Given the description of an element on the screen output the (x, y) to click on. 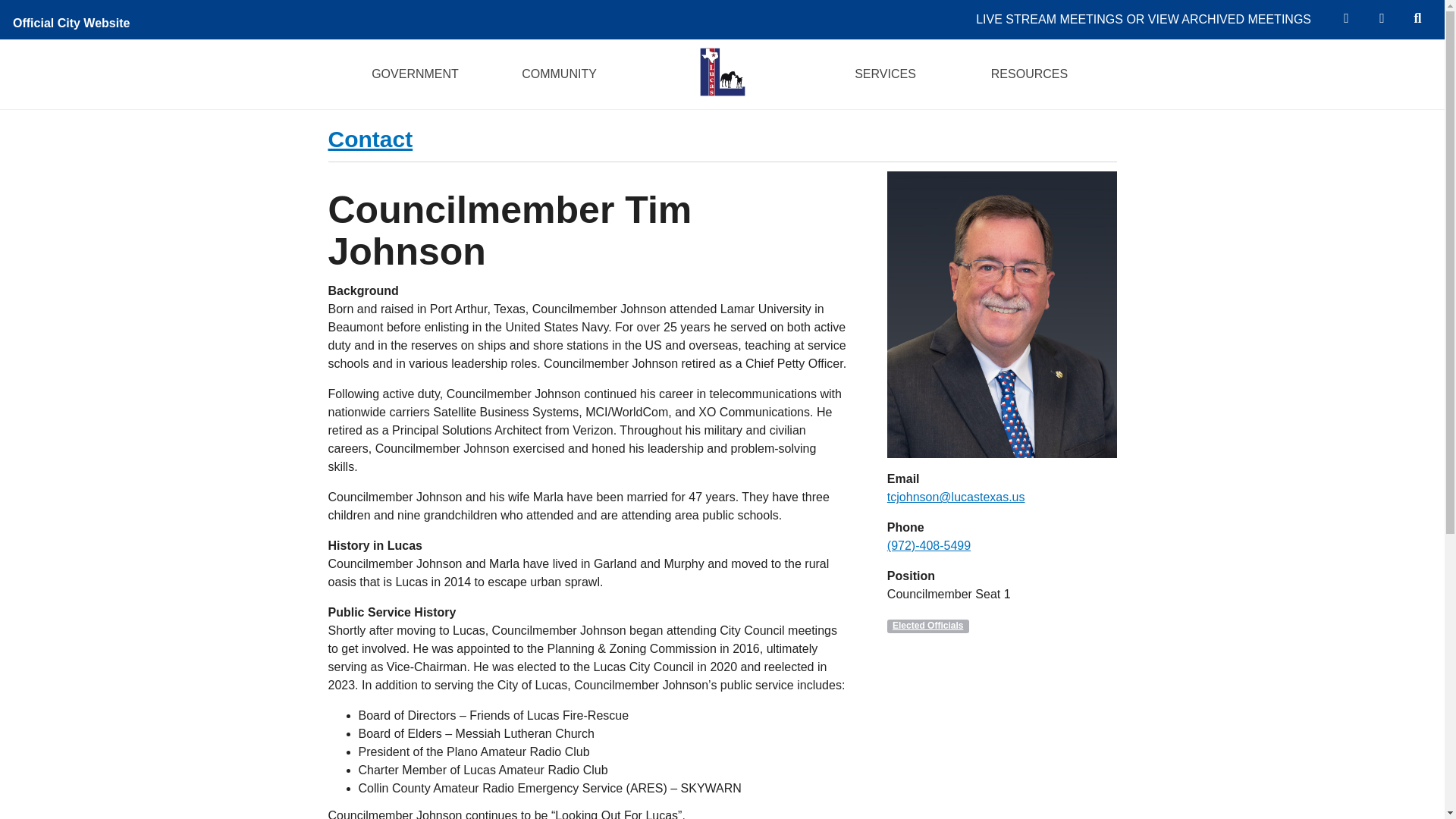
SERVICES (885, 74)
Report Issue (1380, 18)
Elected Officials (927, 626)
Official City Website (74, 19)
Home (721, 71)
Contact (369, 138)
GOVERNMENT (414, 74)
Report Issue (1380, 18)
RESOURCES (1028, 74)
Home (721, 71)
